Given the description of an element on the screen output the (x, y) to click on. 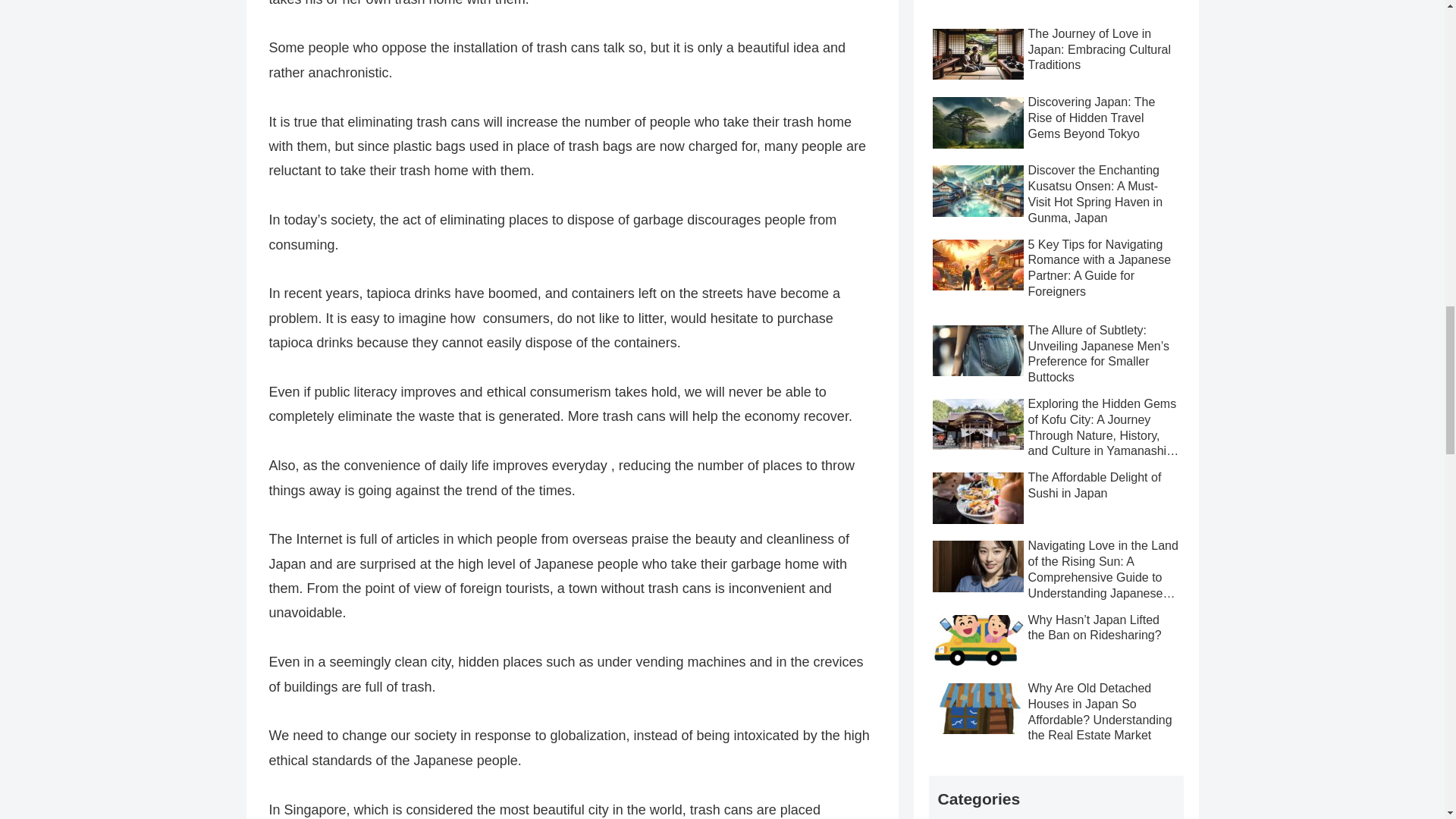
Categories (1055, 797)
